Given the description of an element on the screen output the (x, y) to click on. 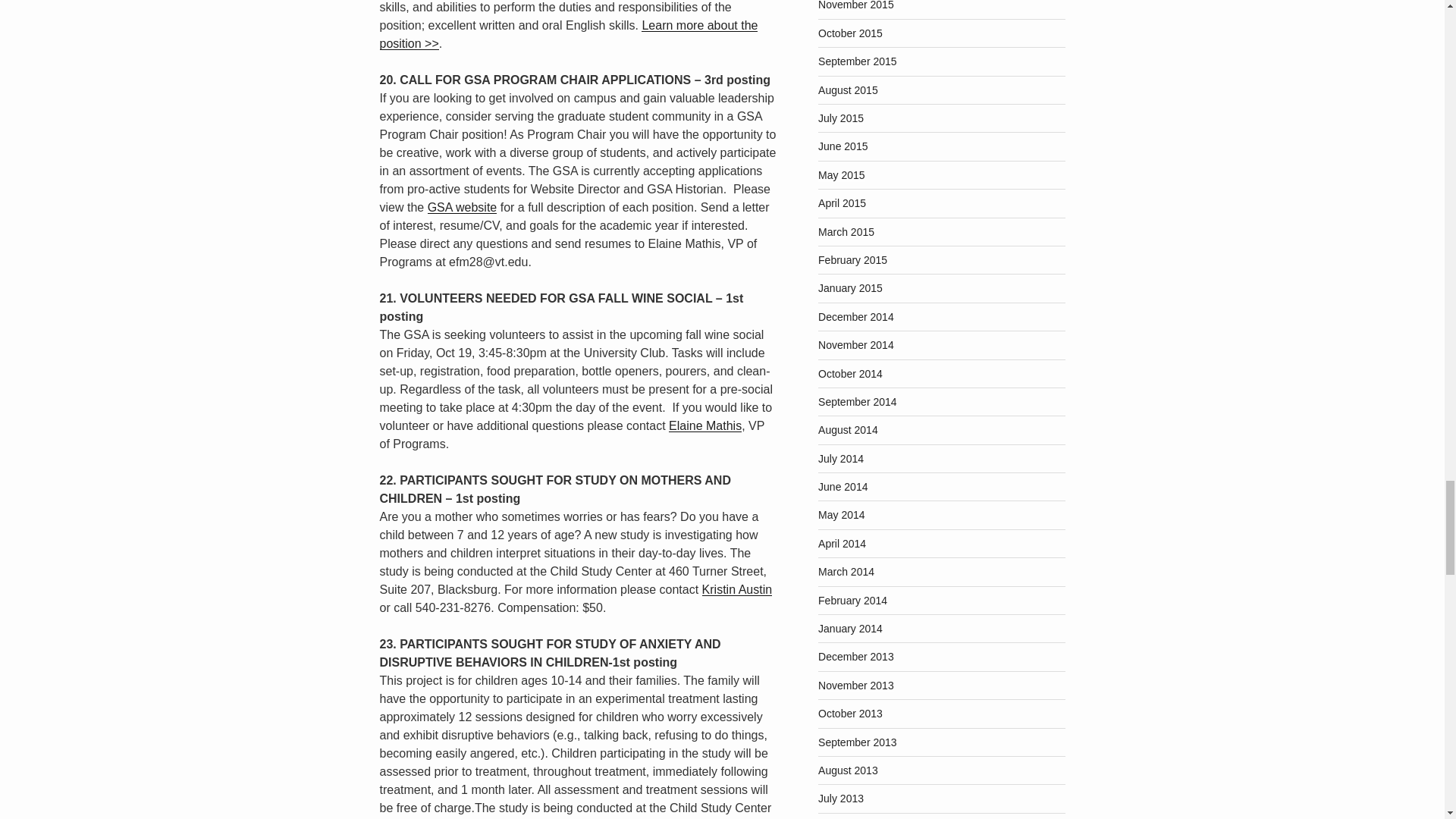
Elaine Mathis (704, 425)
GSA website (462, 206)
Kristin Austin (736, 589)
